Given the description of an element on the screen output the (x, y) to click on. 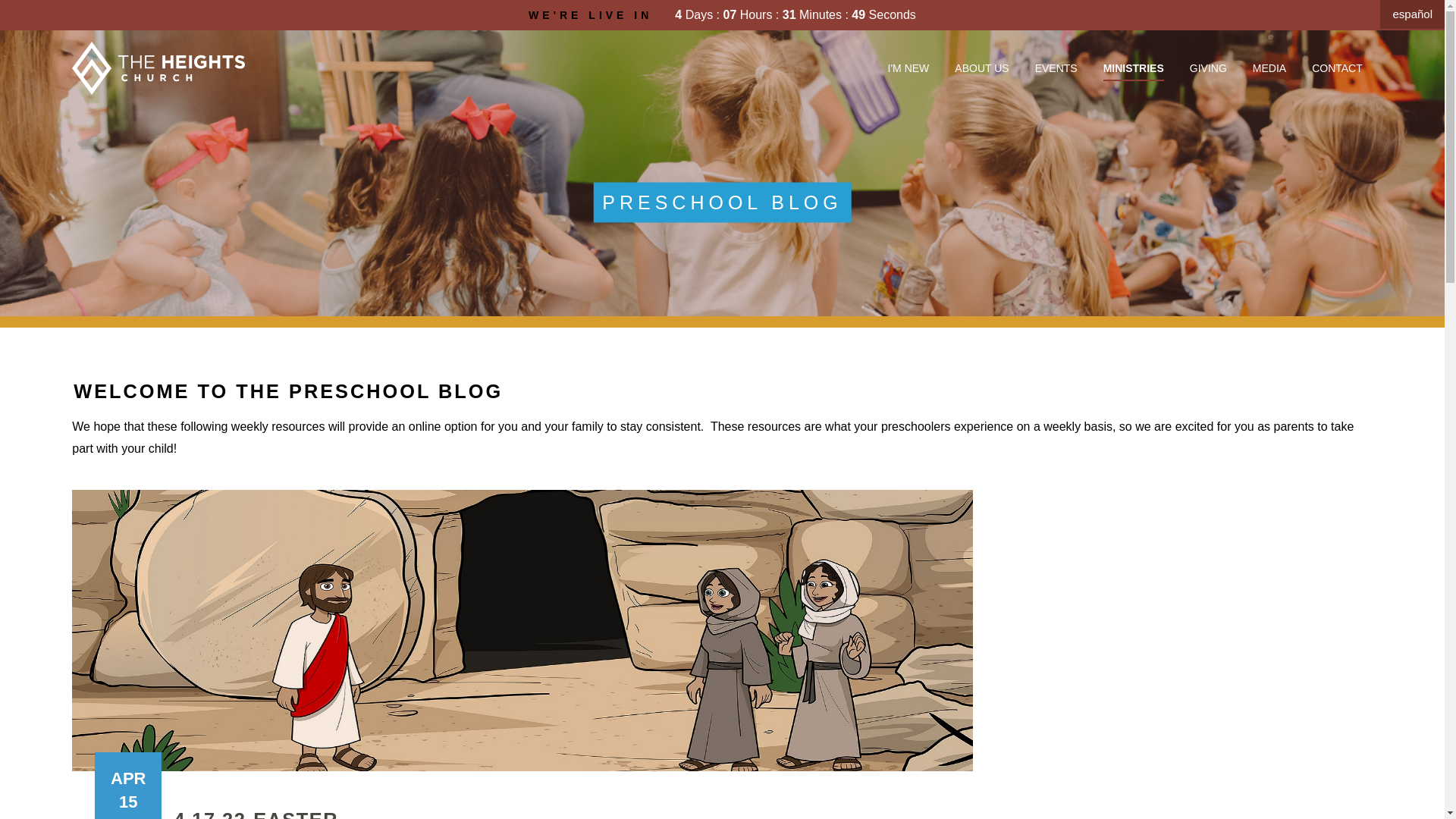
EVENTS (1056, 68)
MINISTRIES (1133, 68)
MEDIA (1268, 68)
GIVING (1208, 68)
I'M NEW (909, 68)
ABOUT US (982, 68)
